Given the description of an element on the screen output the (x, y) to click on. 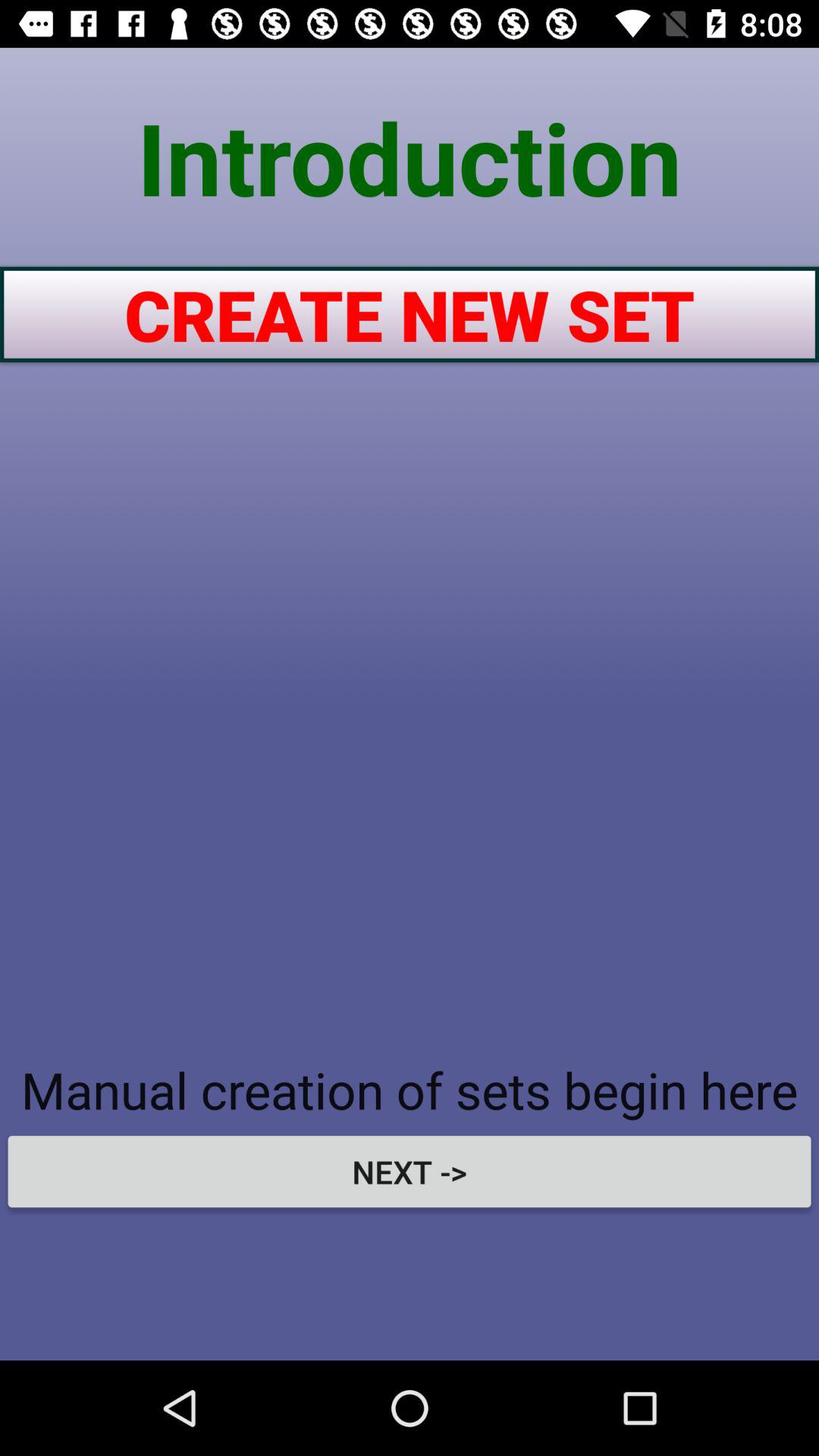
swipe to the create new set (409, 314)
